Given the description of an element on the screen output the (x, y) to click on. 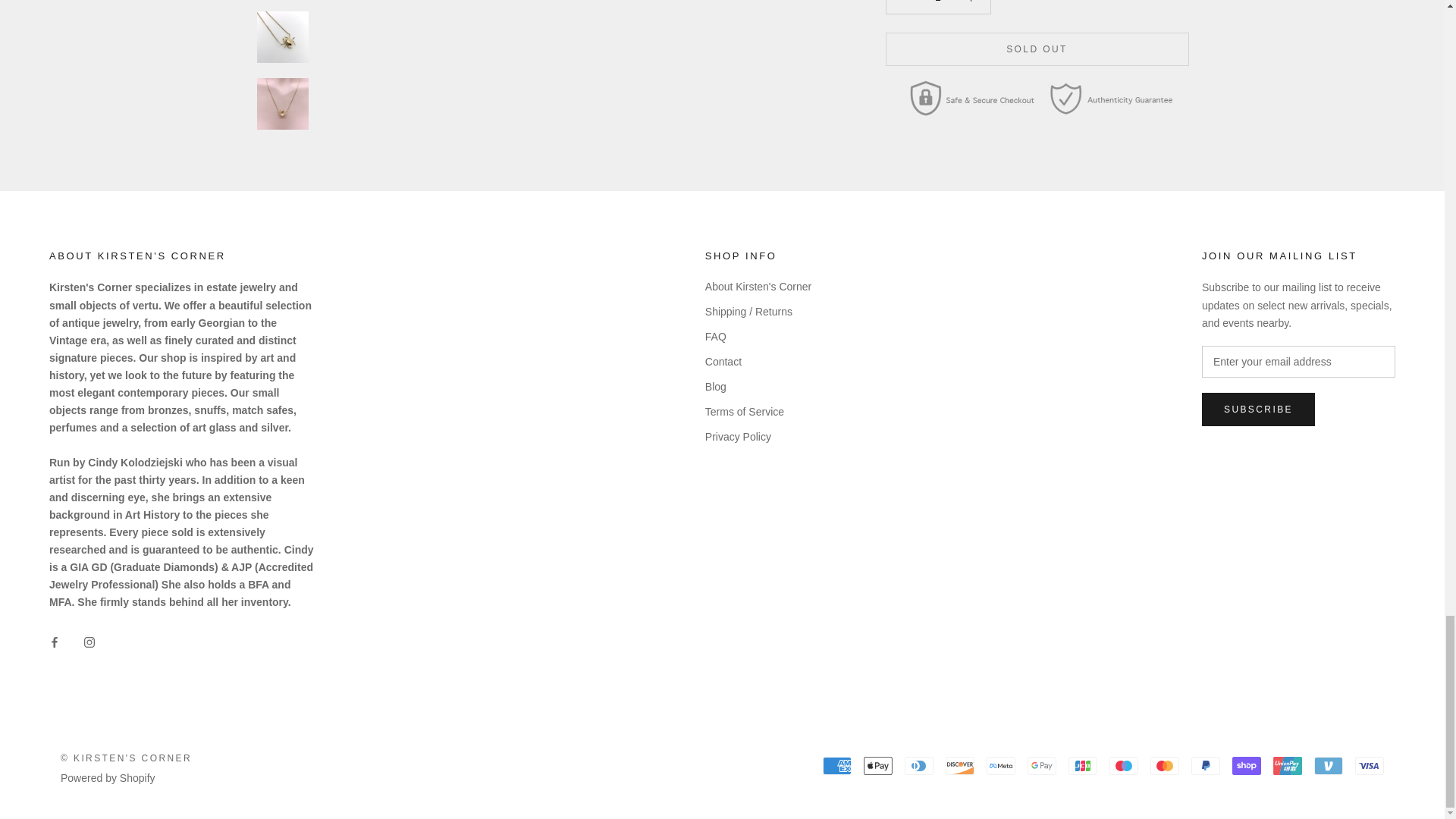
JCB (1082, 765)
PayPal (1205, 765)
Discover (959, 765)
Apple Pay (877, 765)
Maestro (1123, 765)
American Express (836, 765)
Google Pay (1042, 765)
Mastercard (1164, 765)
Diners Club (918, 765)
Shop Pay (1245, 765)
